Given the description of an element on the screen output the (x, y) to click on. 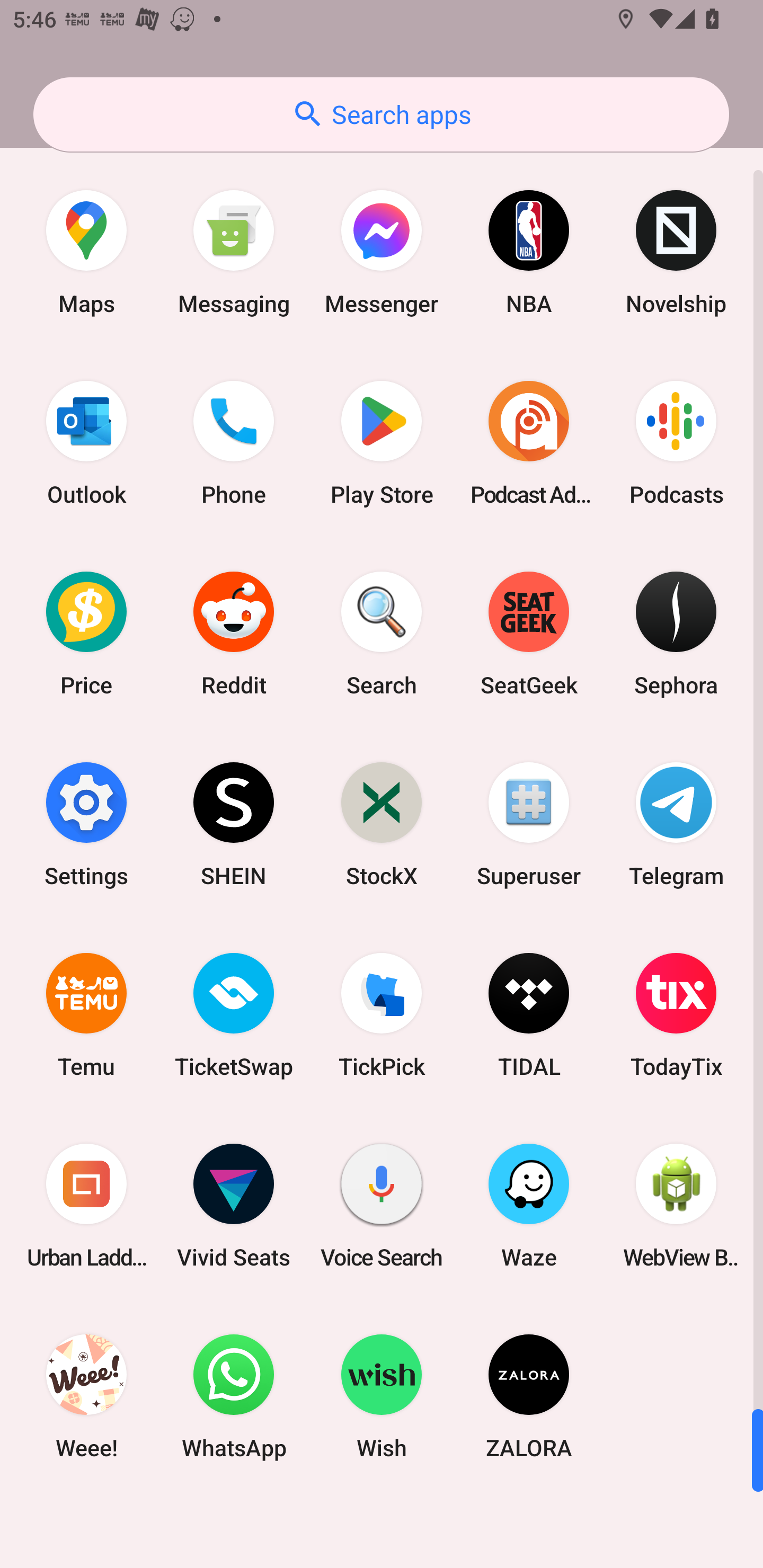
  Search apps (381, 114)
Maps (86, 252)
Messaging (233, 252)
Messenger (381, 252)
NBA (528, 252)
Novelship (676, 252)
Outlook (86, 442)
Phone (233, 442)
Play Store (381, 442)
Podcast Addict (528, 442)
Podcasts (676, 442)
Price (86, 633)
Reddit (233, 633)
Search (381, 633)
SeatGeek (528, 633)
Sephora (676, 633)
Settings (86, 823)
SHEIN (233, 823)
StockX (381, 823)
Superuser (528, 823)
Telegram (676, 823)
Temu (86, 1014)
TicketSwap (233, 1014)
TickPick (381, 1014)
TIDAL (528, 1014)
TodayTix (676, 1014)
Urban Ladder (86, 1205)
Vivid Seats (233, 1205)
Voice Search (381, 1205)
Waze (528, 1205)
WebView Browser Tester (676, 1205)
Weee! (86, 1396)
WhatsApp (233, 1396)
Wish (381, 1396)
ZALORA (528, 1396)
